Given the description of an element on the screen output the (x, y) to click on. 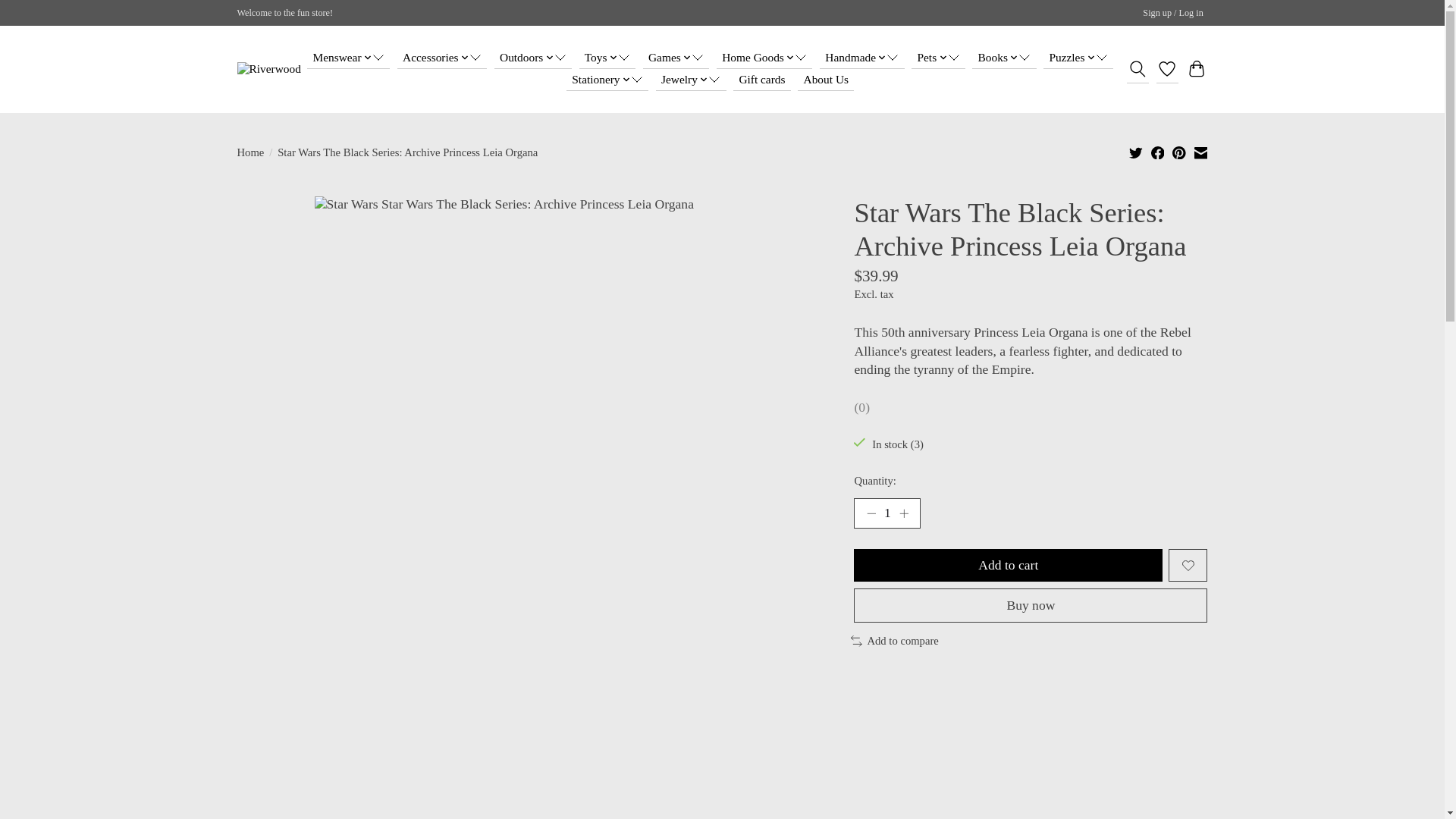
Menswear (348, 57)
1 (886, 512)
Accessories (441, 57)
My account (1173, 13)
